Given the description of an element on the screen output the (x, y) to click on. 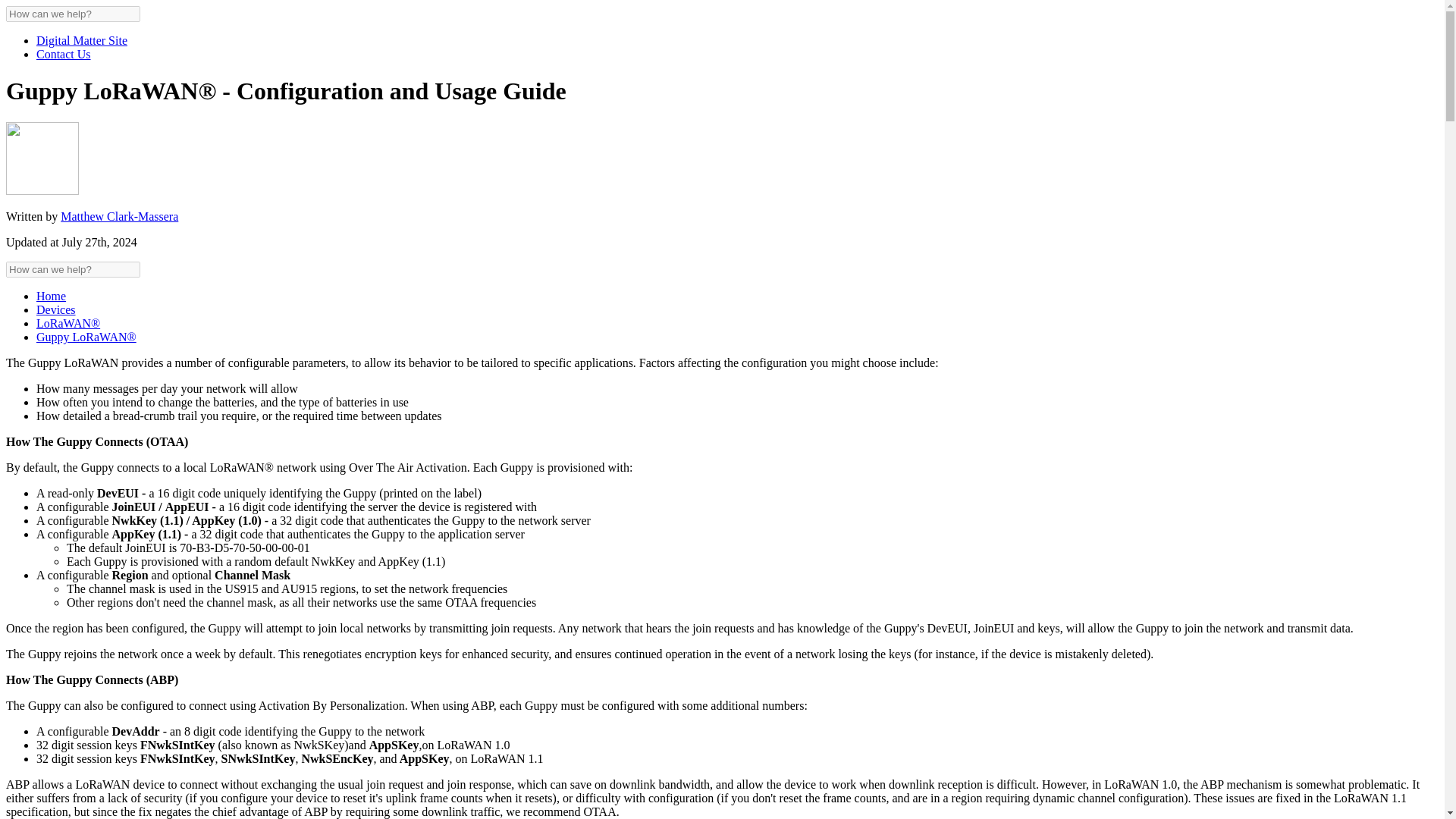
Contact Us (63, 53)
Matthew Clark-Massera (119, 215)
Digital Matter Site (82, 40)
Home (50, 295)
Devices (55, 309)
